Given the description of an element on the screen output the (x, y) to click on. 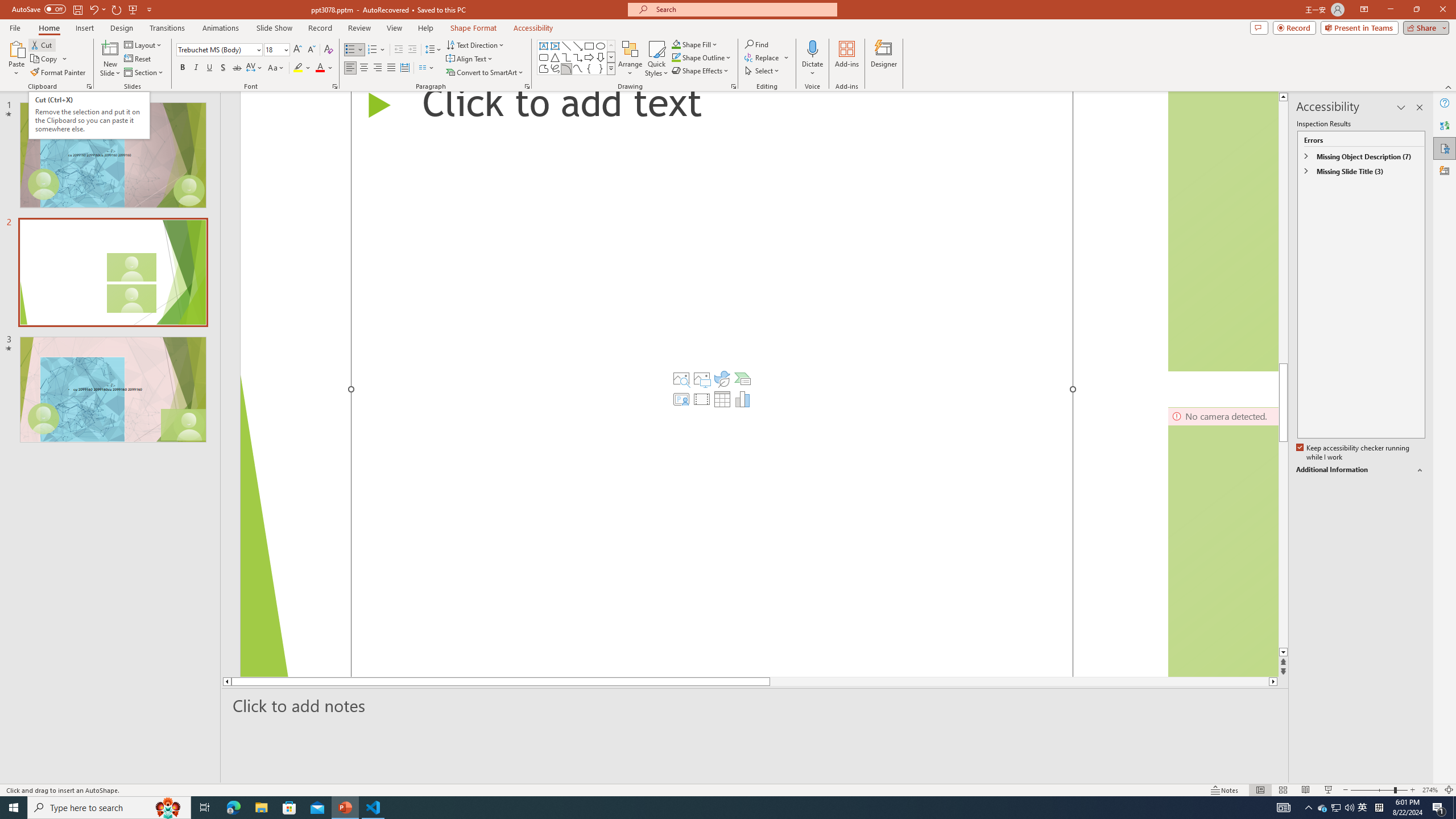
Keep accessibility checker running while I work (1353, 452)
Insert Chart (742, 398)
